Given the description of an element on the screen output the (x, y) to click on. 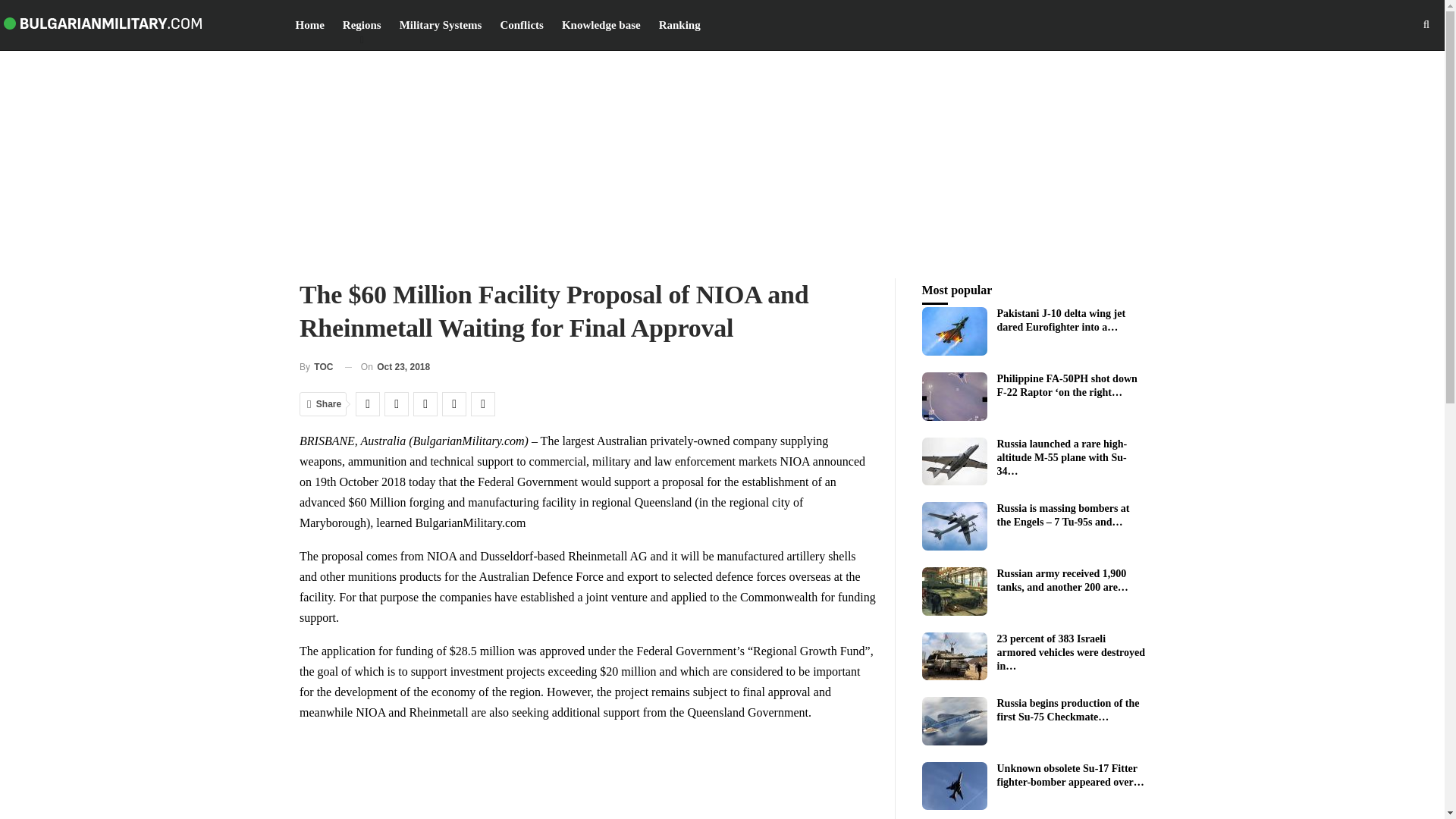
Regions (362, 24)
Conflicts (521, 24)
By TOC (316, 367)
Military Systems (440, 24)
